Given the description of an element on the screen output the (x, y) to click on. 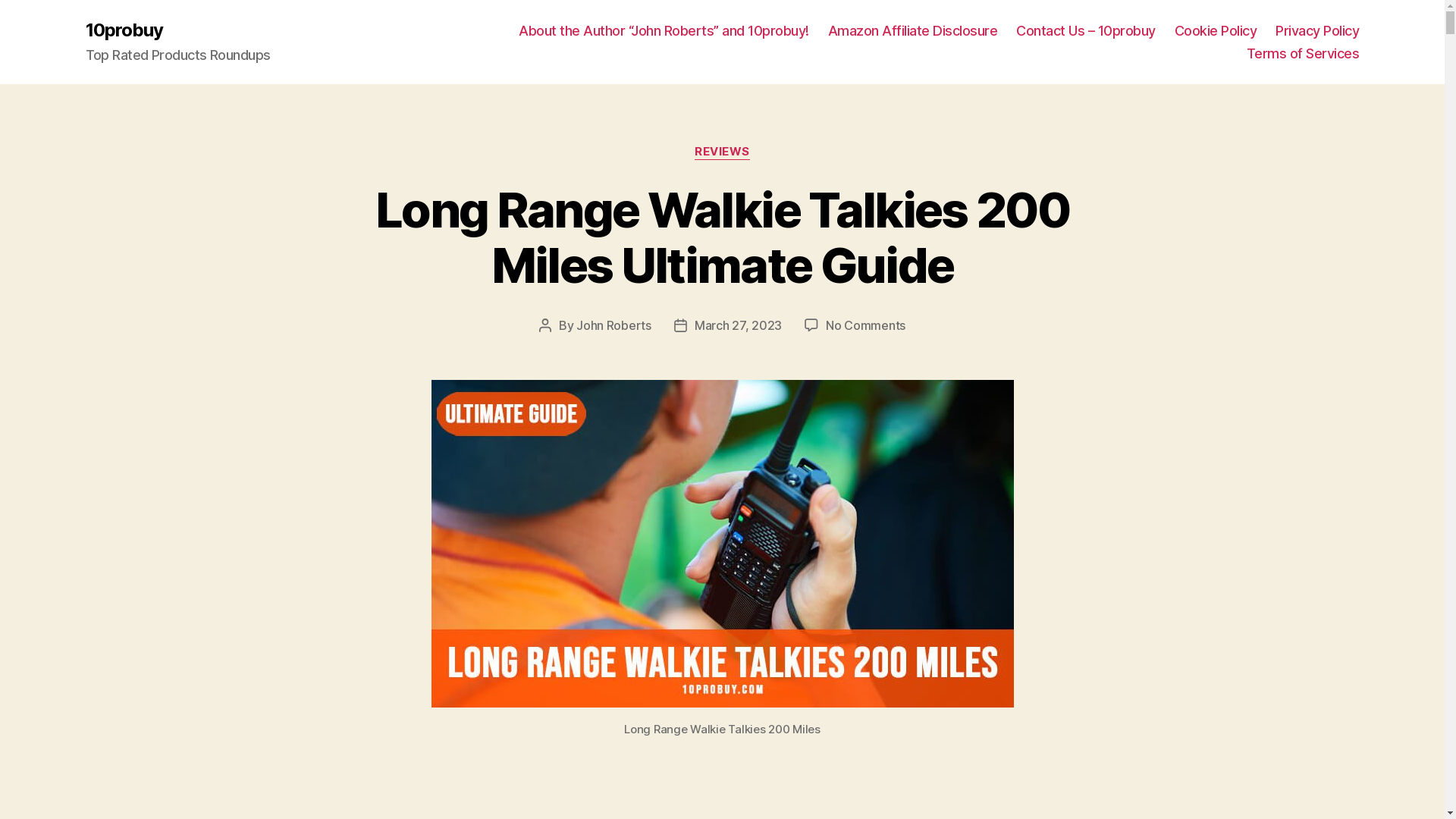
REVIEWS Element type: text (721, 152)
March 27, 2023 Element type: text (737, 324)
Cookie Policy Element type: text (1215, 30)
Amazon Affiliate Disclosure Element type: text (912, 30)
Terms of Services Element type: text (1302, 53)
Privacy Policy Element type: text (1316, 30)
Long Range Walkie Talkies 200 Miles Ultimate Guide Element type: text (722, 237)
10probuy Element type: text (123, 30)
John Roberts Element type: text (613, 324)
